Given the description of an element on the screen output the (x, y) to click on. 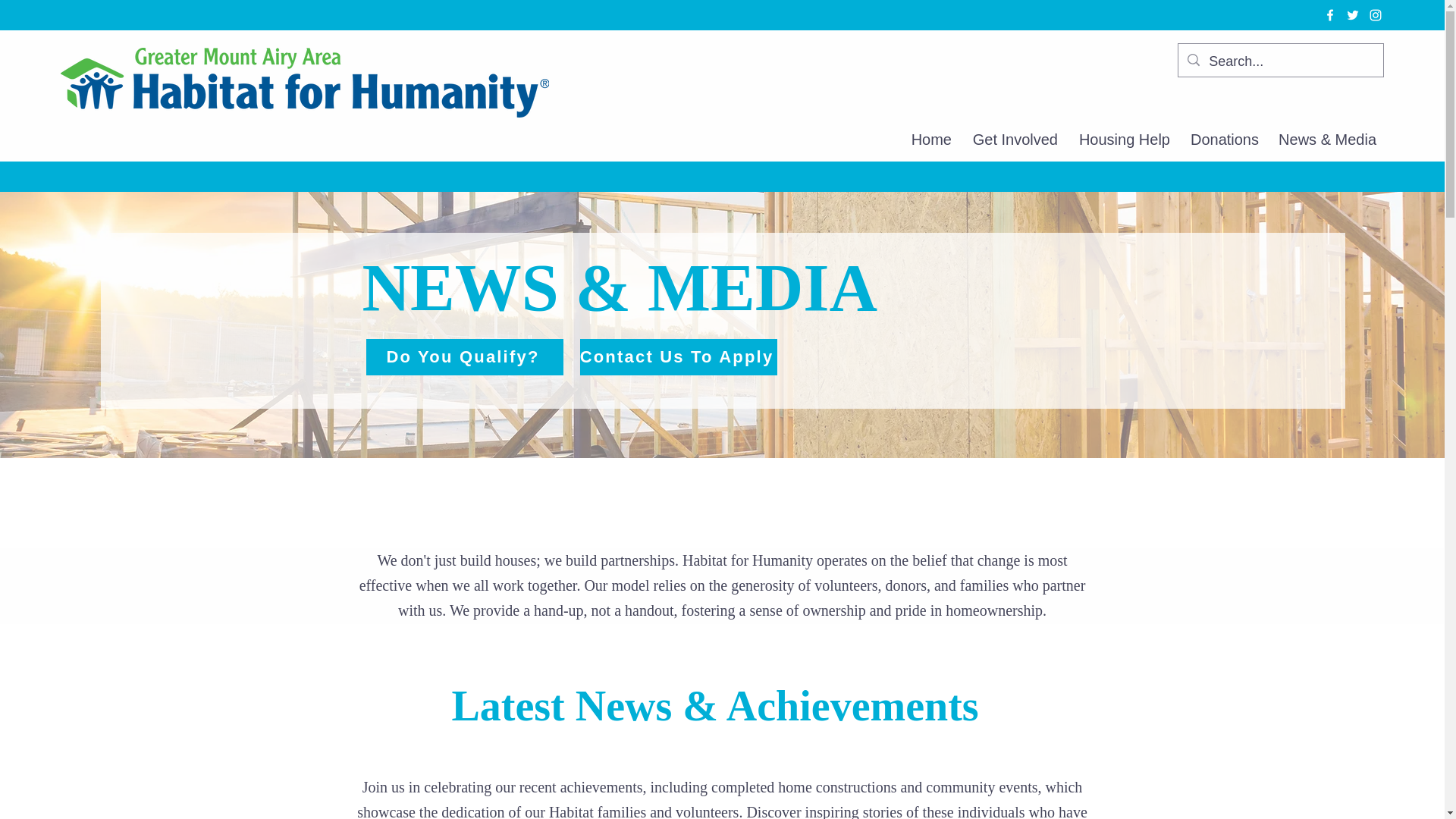
Housing Help (1121, 139)
Donations (1221, 139)
Get Involved (1012, 139)
Contact Us To Apply (677, 357)
Do You Qualify? (463, 357)
Home (930, 139)
